Given the description of an element on the screen output the (x, y) to click on. 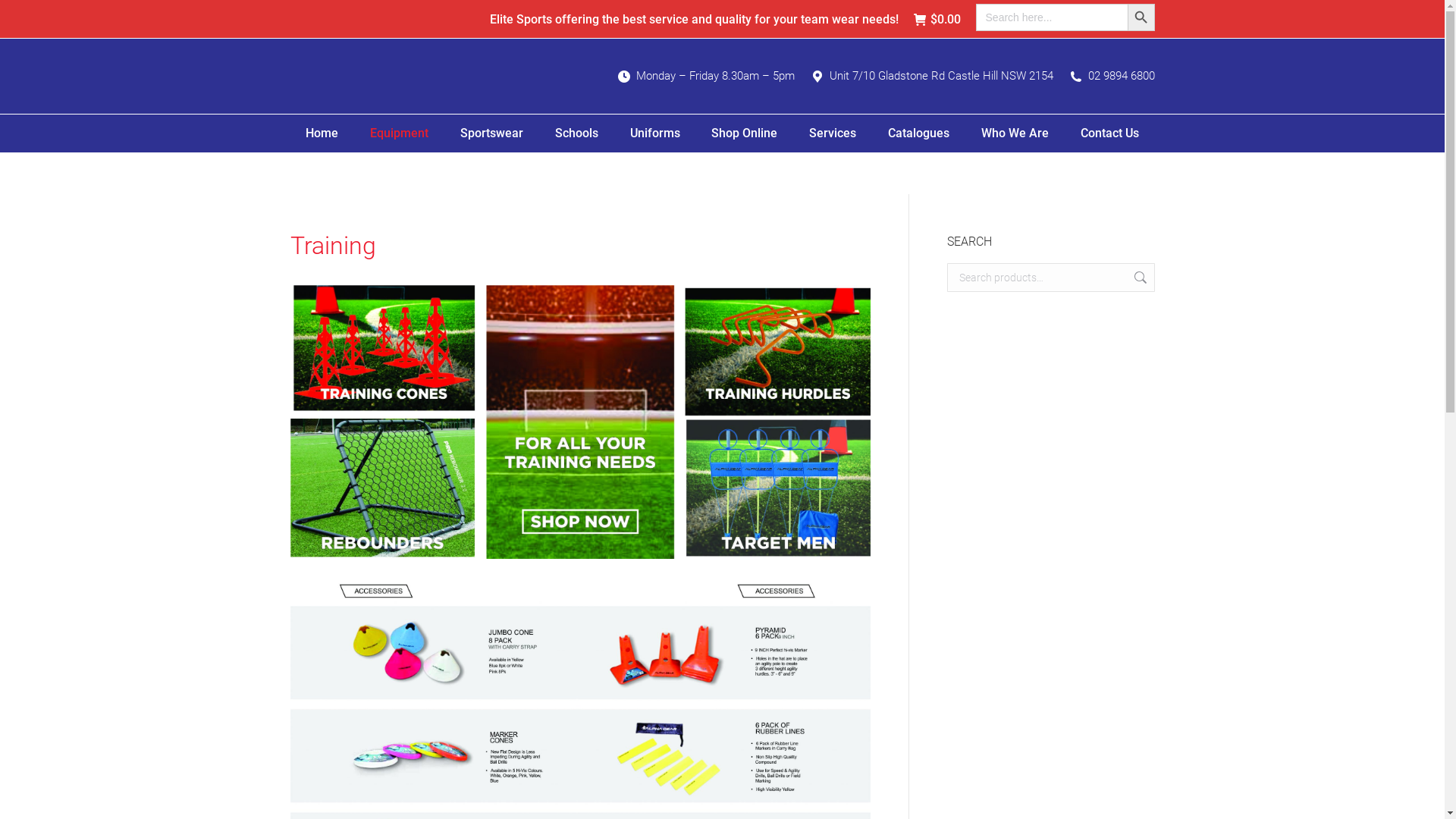
Search Element type: text (1138, 277)
Search Button Element type: text (1140, 17)
Schools Element type: text (576, 133)
Contact Us Element type: text (1109, 133)
Uniforms Element type: text (654, 133)
Catalogues Element type: text (918, 133)
Services Element type: text (832, 133)
Sportswear Element type: text (491, 133)
Equipment Element type: text (398, 133)
Who We Are Element type: text (1014, 133)
$0.00 Element type: text (936, 18)
Home Element type: text (321, 133)
TRAINING EQUIPMENT Element type: hover (579, 421)
Shop Online Element type: text (744, 133)
